Given the description of an element on the screen output the (x, y) to click on. 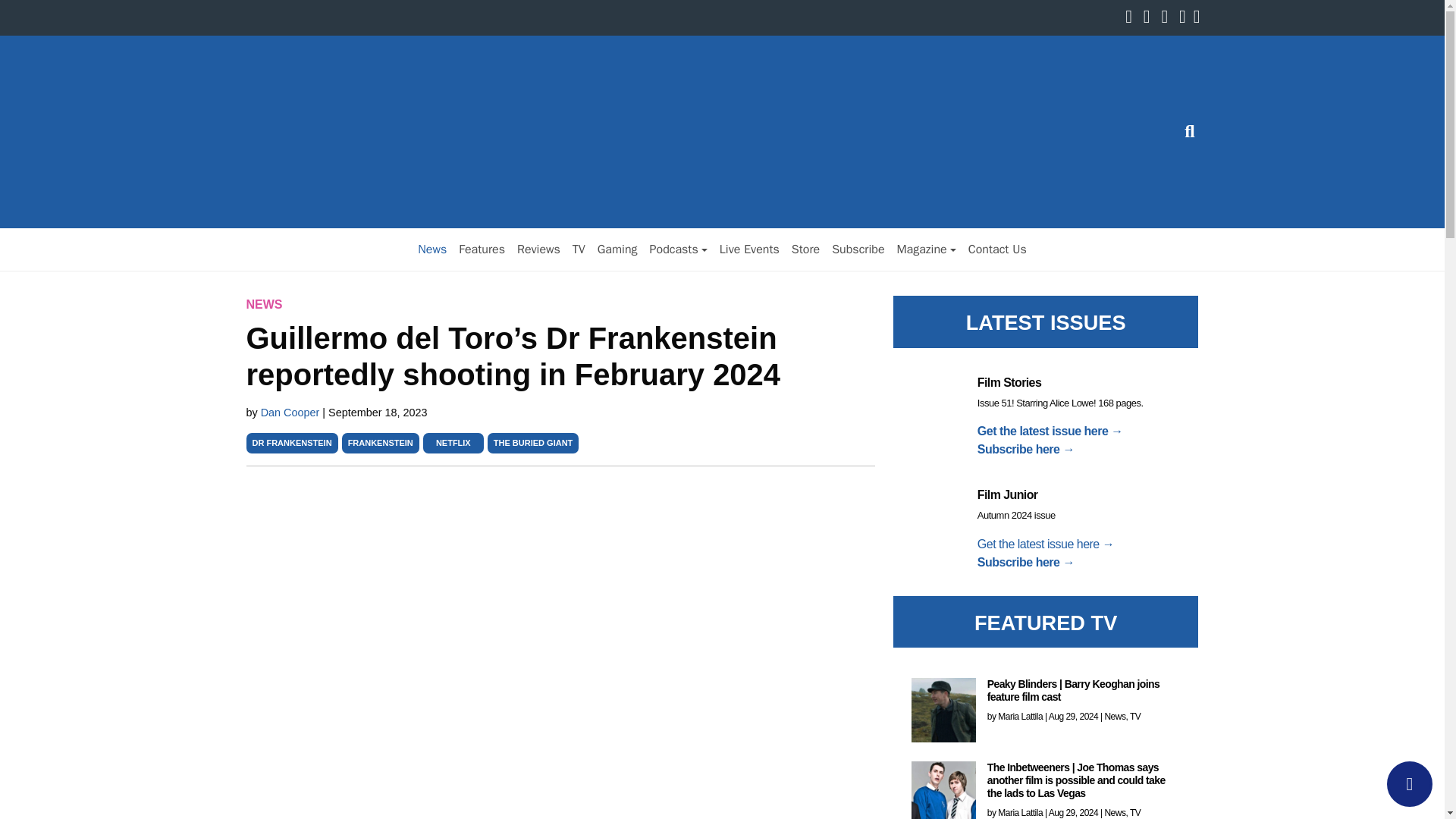
Reviews (538, 249)
Dan Cooper (291, 412)
Follow us on Twitter (1149, 18)
NEWS (264, 304)
FRANKENSTEIN (380, 442)
Store (805, 249)
DR FRANKENSTEIN (291, 442)
News (432, 249)
THE BURIED GIANT (533, 442)
Magazine (924, 249)
